Given the description of an element on the screen output the (x, y) to click on. 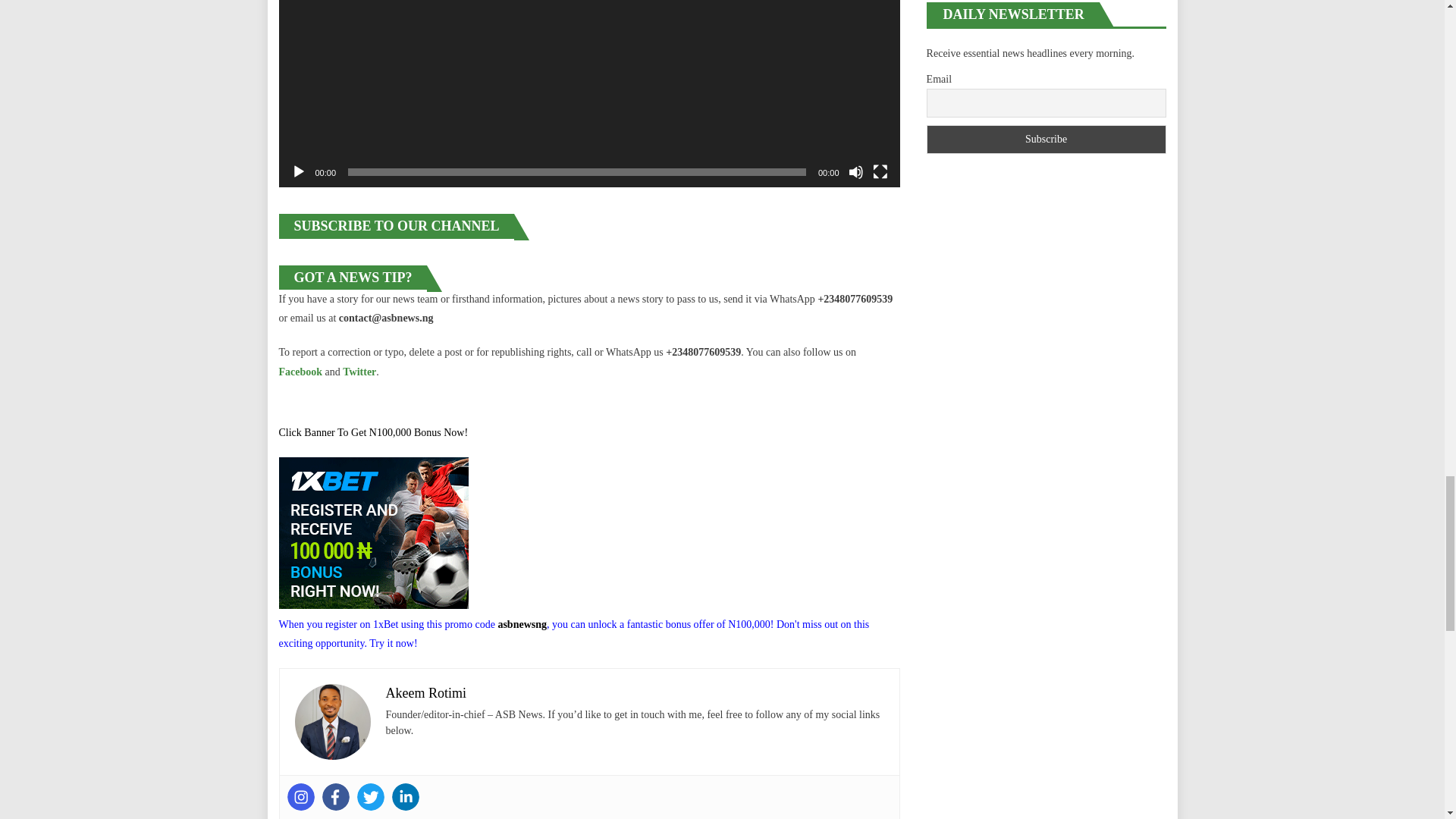
Play (298, 171)
Subscribe (1046, 139)
